Given the description of an element on the screen output the (x, y) to click on. 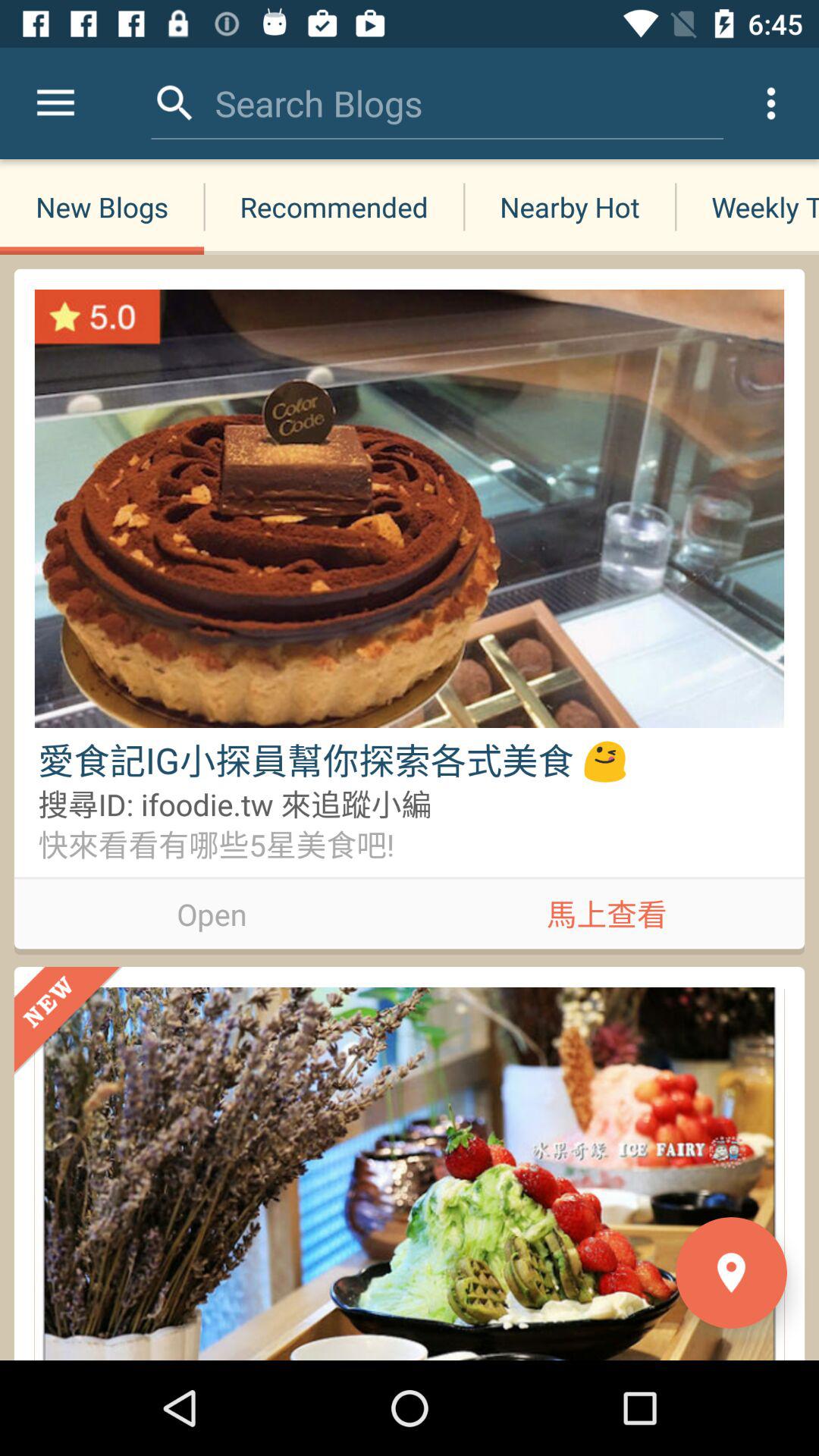
launch the recommended icon (334, 206)
